Given the description of an element on the screen output the (x, y) to click on. 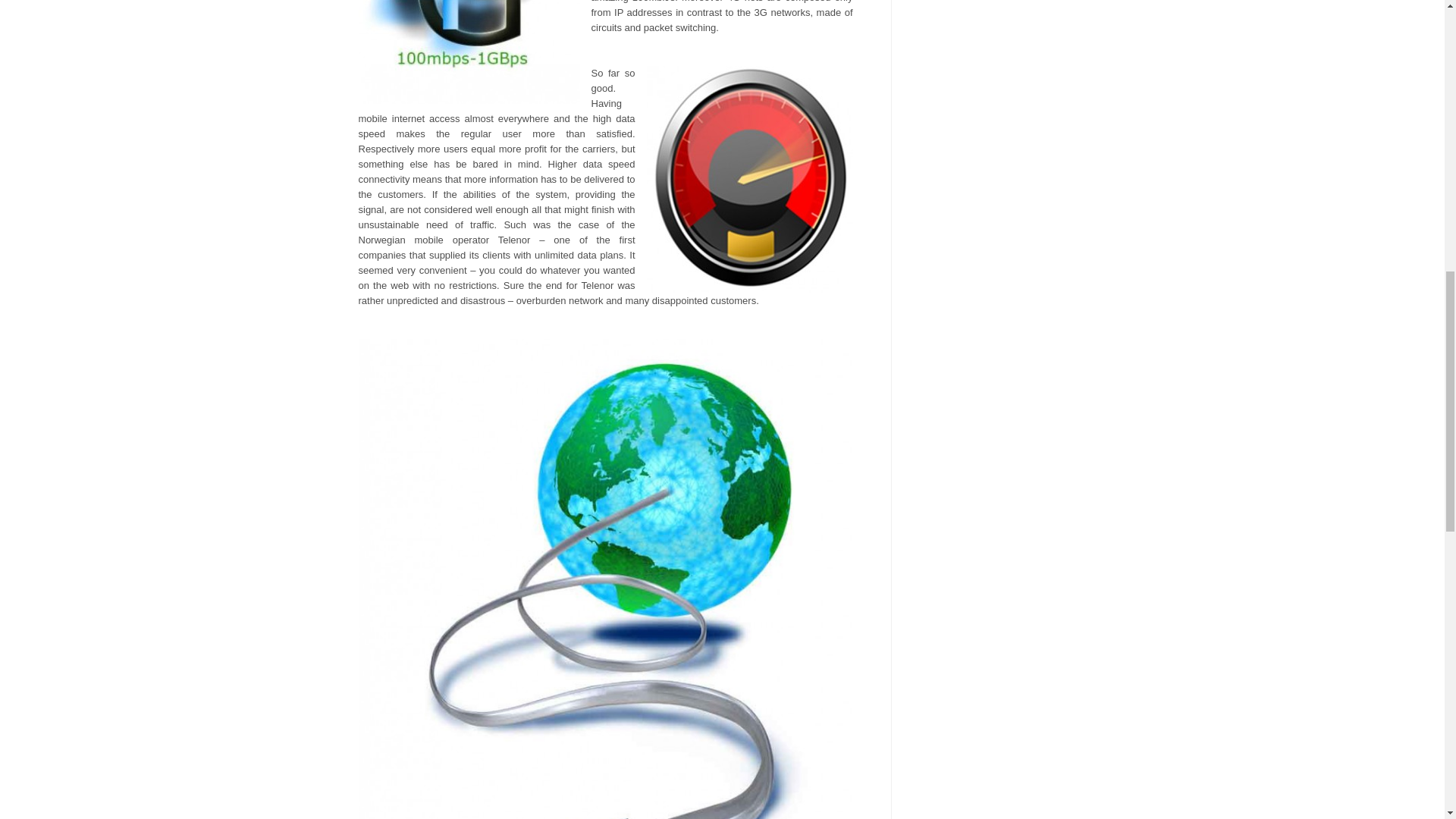
unsustainable traffic (748, 179)
4G (468, 52)
